Given the description of an element on the screen output the (x, y) to click on. 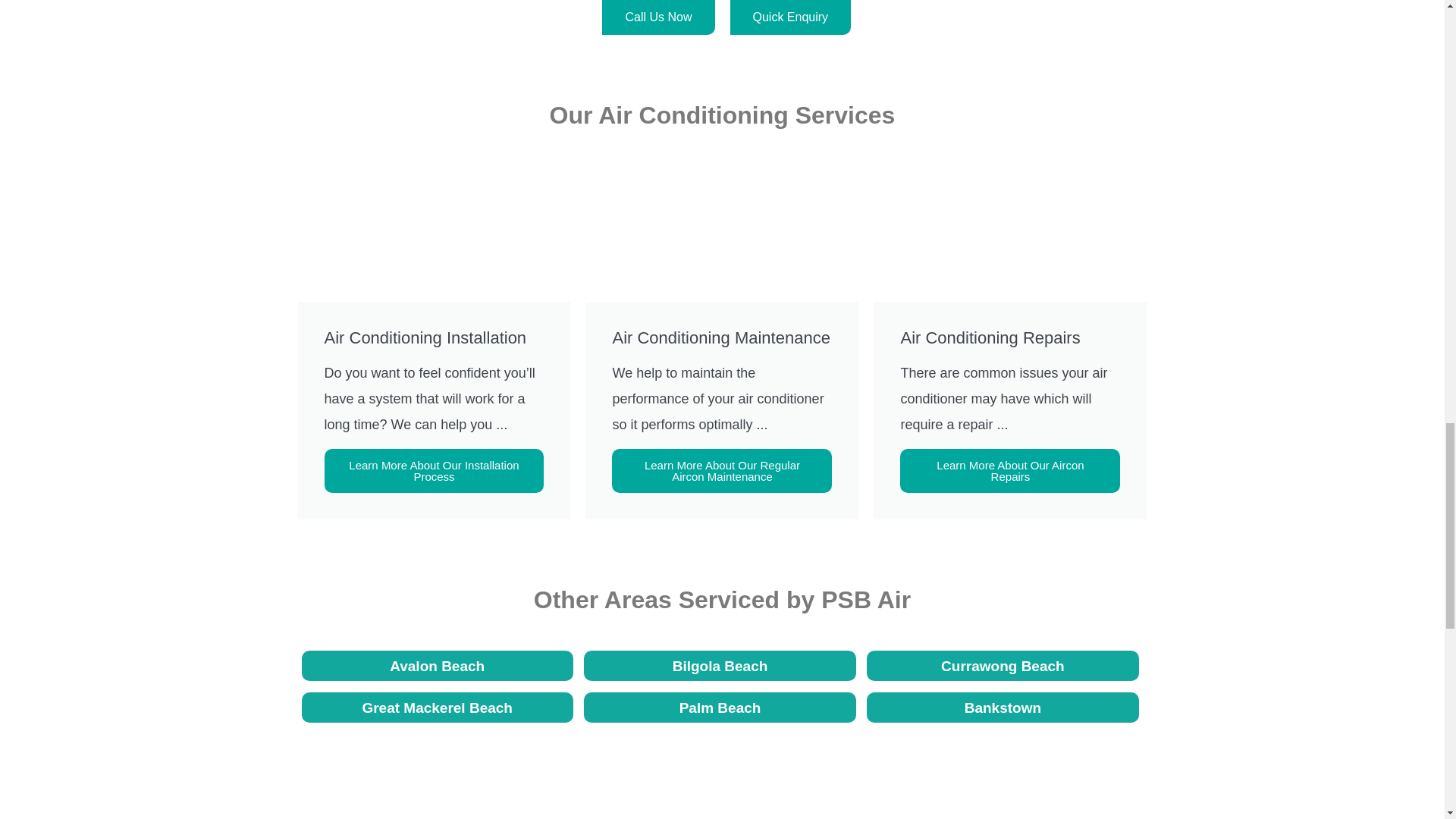
Avalon Beach (437, 665)
Palm Beach (719, 707)
Currawong Beach (1002, 665)
Great Mackerel Beach (437, 707)
Bilgola Beach (719, 665)
Bankstown (1002, 707)
